Given the description of an element on the screen output the (x, y) to click on. 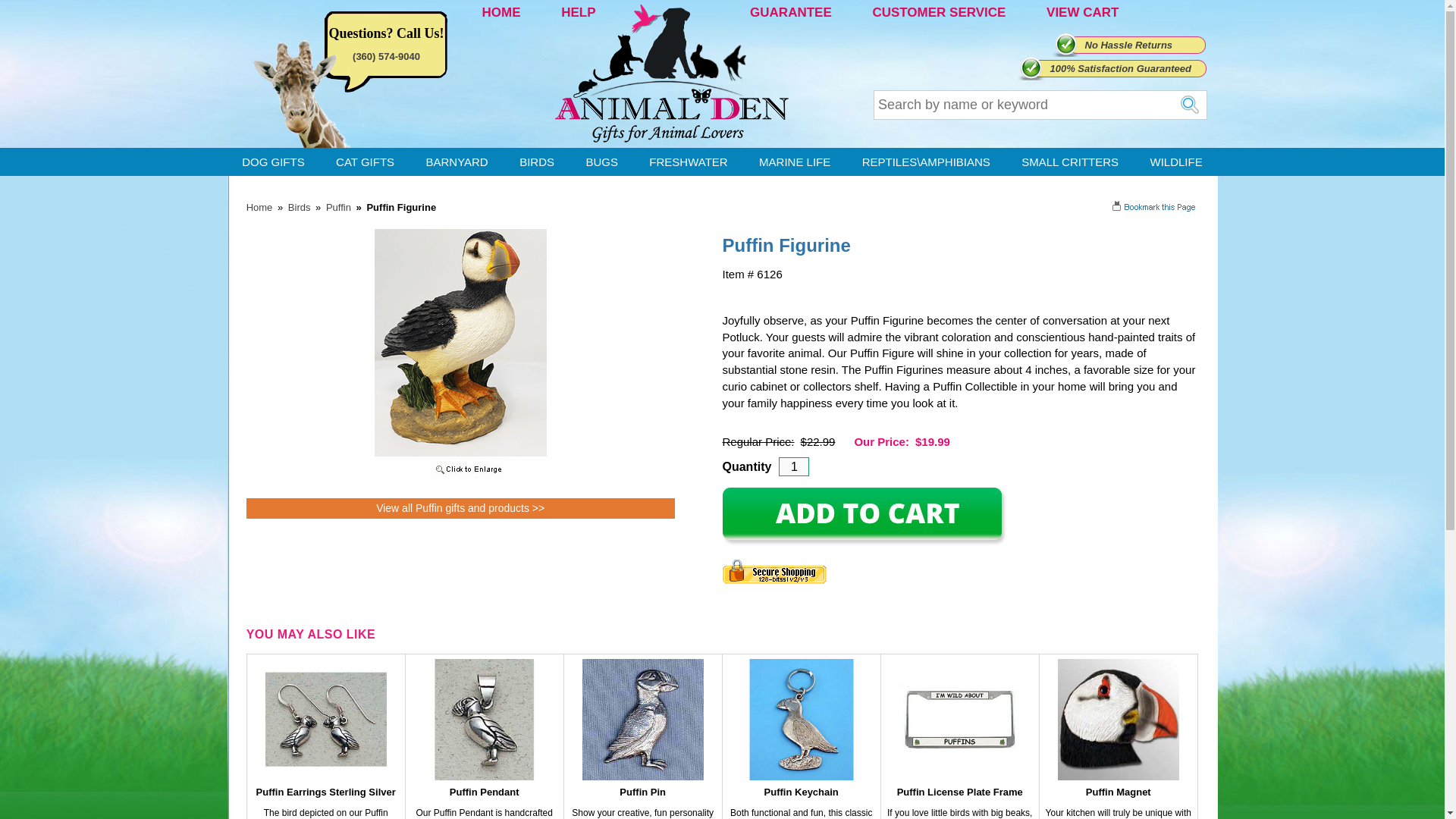
Puffin Keychain (801, 791)
No Hassle Returns (1128, 44)
AnimalDen (259, 206)
Customer Service (939, 11)
BARNYARD (456, 162)
FRESHWATER (687, 162)
VIEW CART (1082, 11)
BUGS (601, 162)
Puffin Pendant (484, 791)
WILDLIFE (1175, 162)
CUSTOMER SERVICE (939, 11)
SMALL CRITTERS (1069, 162)
Guarantee (790, 11)
bookmark (1155, 206)
Puffin Figurine (460, 474)
